Given the description of an element on the screen output the (x, y) to click on. 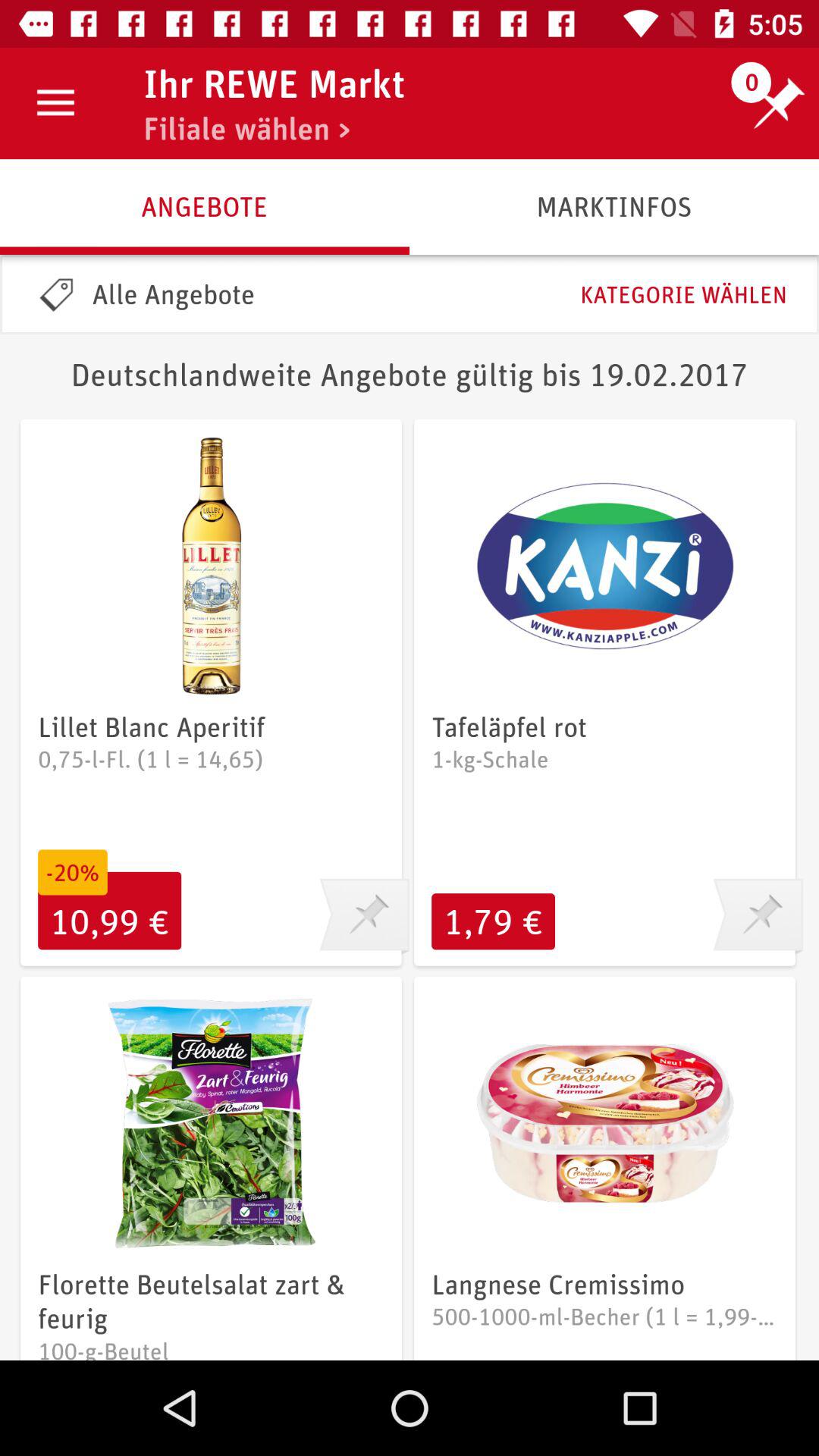
turn off item next to the 0 (246, 128)
